Given the description of an element on the screen output the (x, y) to click on. 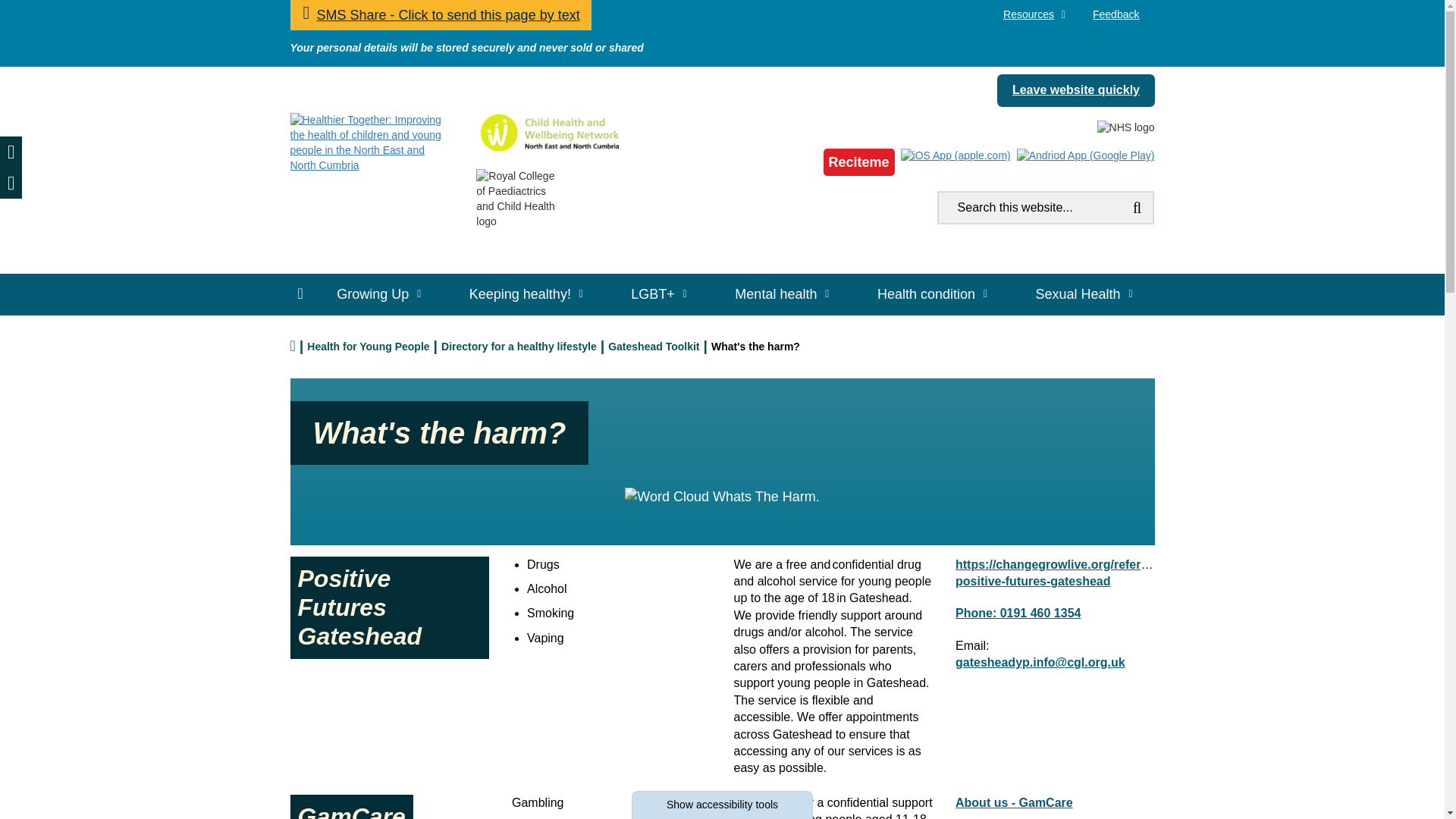
Leave website quickly (1074, 90)
Homepage (365, 142)
Search (1137, 207)
Growing Up (377, 294)
SMS Share - Click to send this page by text (440, 15)
Resources (1032, 15)
Send this link to a friend via text message! (859, 162)
Feedback (440, 15)
